Given the description of an element on the screen output the (x, y) to click on. 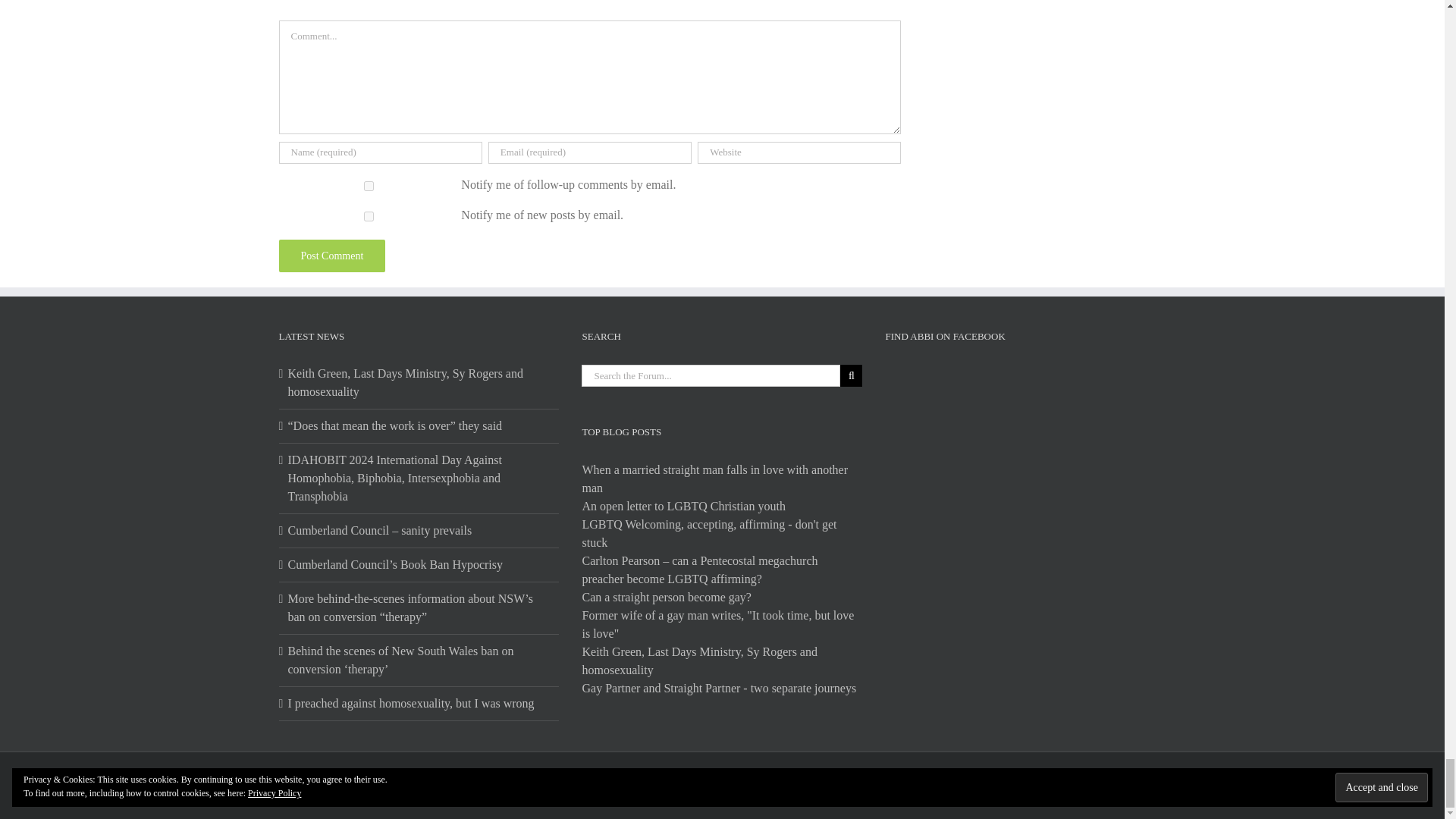
subscribe (369, 185)
subscribe (369, 216)
Post Comment (332, 255)
